Given the description of an element on the screen output the (x, y) to click on. 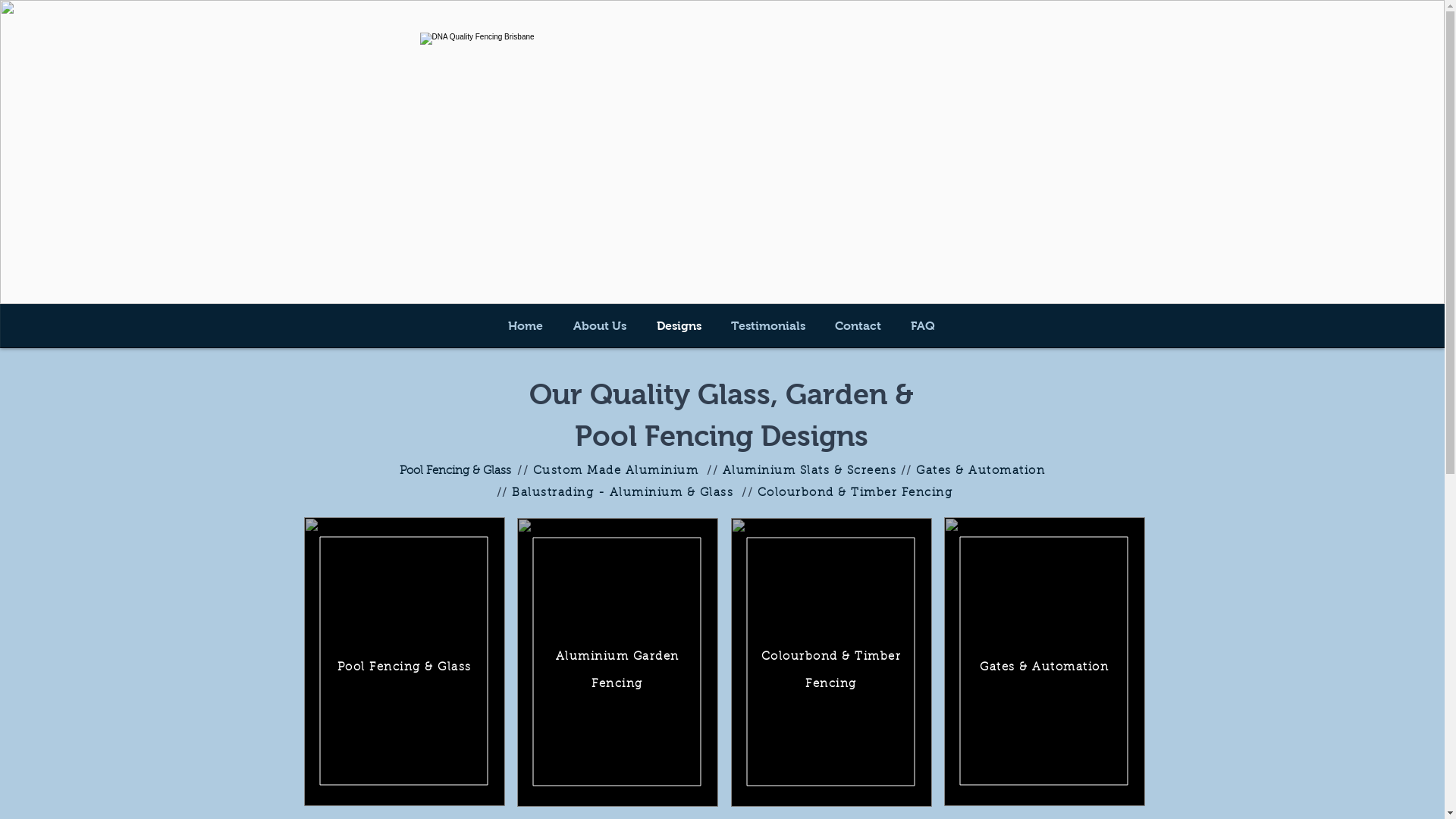
About Us Element type: text (599, 326)
Brisbane's Pool Fencing Specialists Element type: hover (723, 151)
FAQ Element type: text (923, 326)
Contact Element type: text (858, 326)
Home Element type: text (525, 326)
Designs Element type: text (678, 326)
Testimonials Element type: text (767, 326)
